Given the description of an element on the screen output the (x, y) to click on. 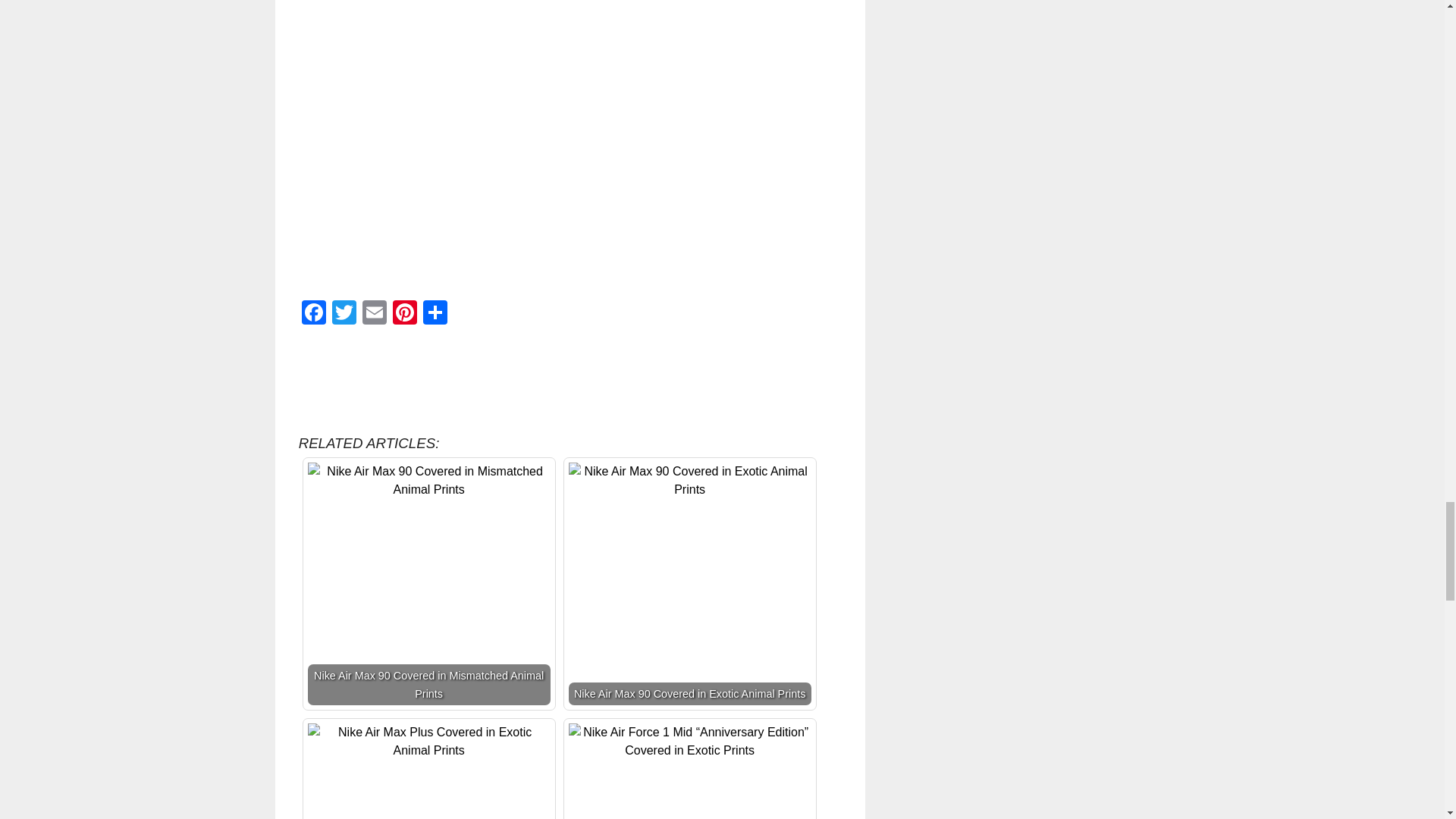
Nike Air Max 90 Covered in Exotic Animal Prints (689, 583)
Nike Air Max Plus Covered in Exotic Animal Prints (428, 741)
Facebook (313, 314)
Nike Air Max 90 Covered in Exotic Animal Prints (689, 480)
Pinterest (405, 314)
Twitter (344, 314)
Nike Air Max 90 Covered in Mismatched Animal Prints (428, 583)
Nike Air Max 90 Covered in Mismatched Animal Prints (428, 480)
Pinterest (405, 314)
Facebook (313, 314)
Share (434, 314)
Twitter (344, 314)
Email (374, 314)
Nike Air Max Plus Covered in Exotic Animal Prints (428, 771)
Email (374, 314)
